Given the description of an element on the screen output the (x, y) to click on. 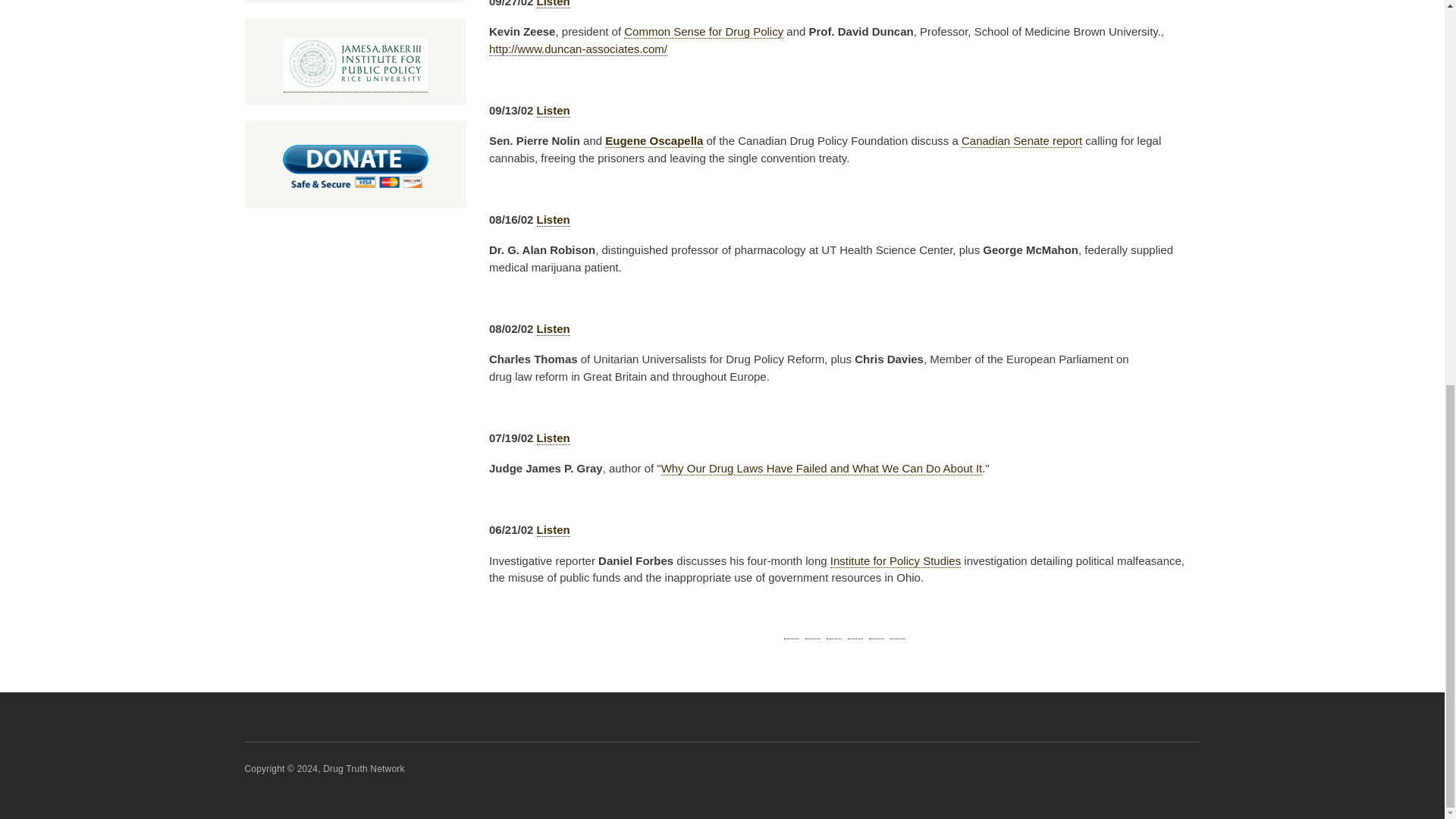
Listen (553, 110)
Why Our Drug Laws Have Failed and What We Can Do About It (821, 468)
Share to X (813, 631)
Listen (553, 219)
Listen (553, 530)
Share to Reddit (855, 631)
Institute for Policy Studies (894, 561)
Share to Facebook (791, 631)
Eugene Oscapella (654, 141)
Listen (553, 328)
